Given the description of an element on the screen output the (x, y) to click on. 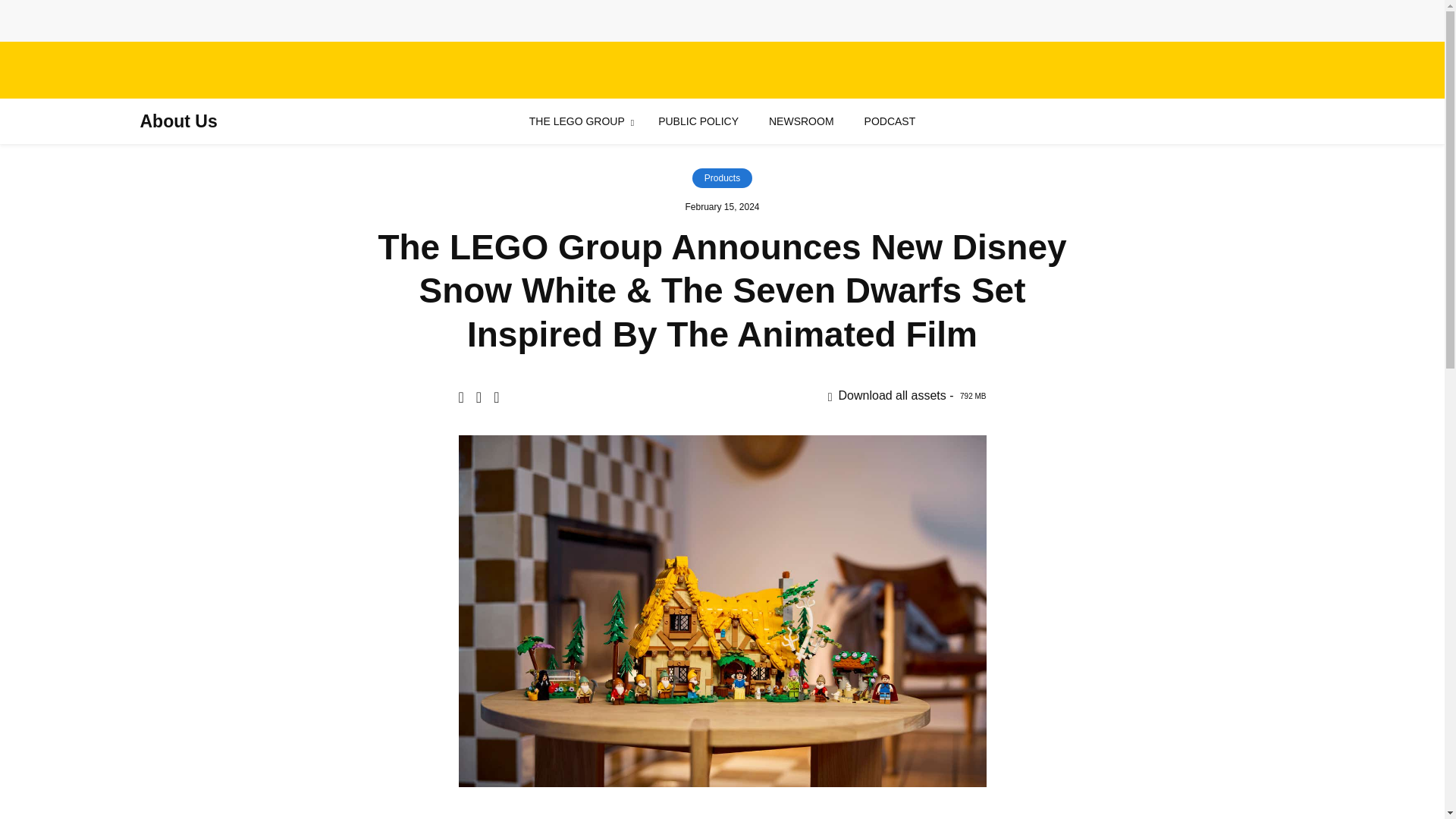
About Us (177, 120)
NEWSROOM (801, 121)
Products (722, 178)
Download all assets (907, 395)
PUBLIC POLICY (698, 121)
THE LEGO GROUP (576, 121)
PODCAST (889, 121)
